Given the description of an element on the screen output the (x, y) to click on. 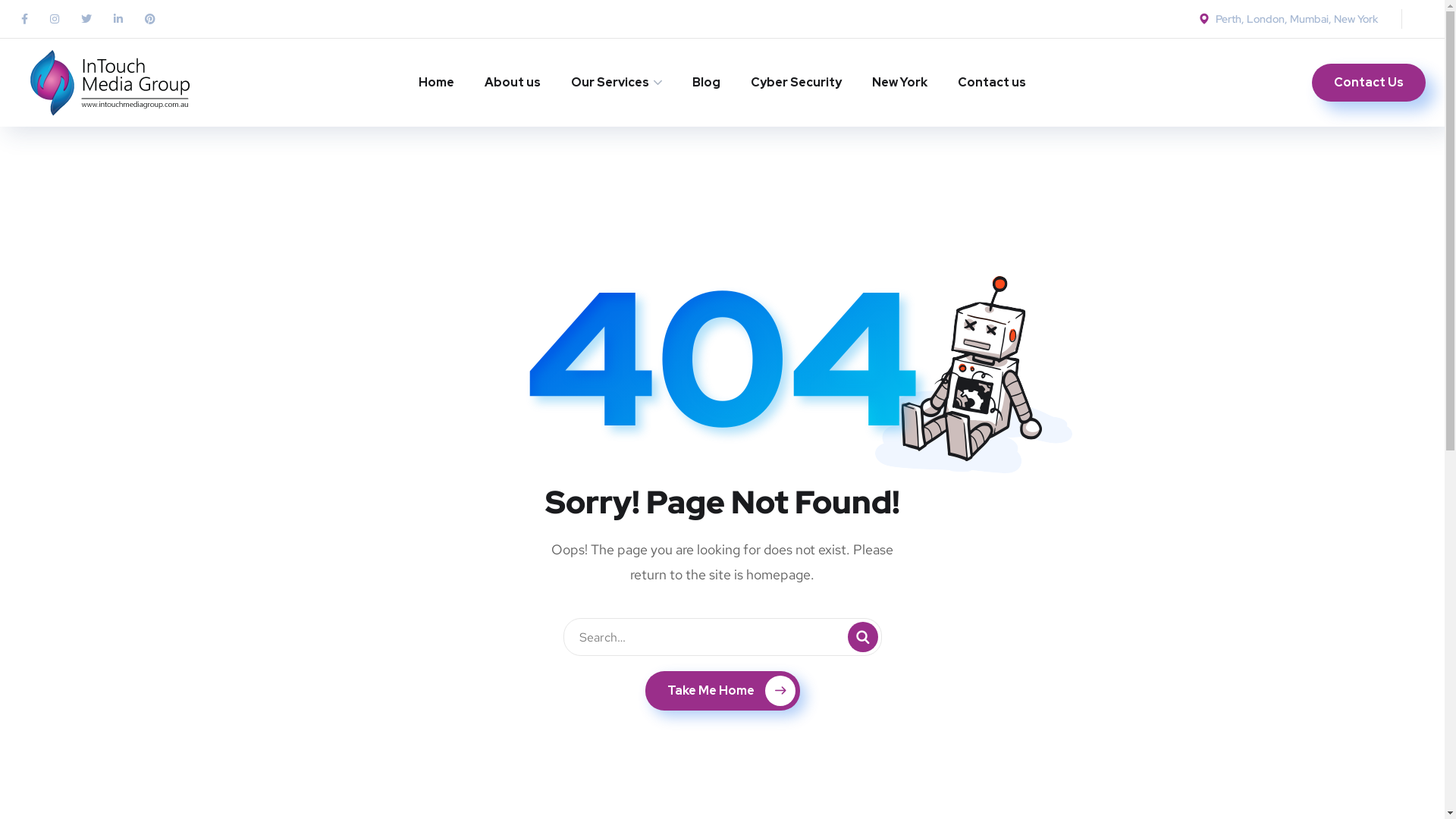
Blog Element type: text (706, 82)
Take Me Home Element type: text (721, 690)
Contact us Element type: text (991, 82)
New York Element type: text (899, 82)
Cyber Security Element type: text (795, 82)
About us Element type: text (512, 82)
Home Element type: text (436, 82)
Our Services Element type: text (616, 82)
Contact Us Element type: text (1368, 82)
